Given the description of an element on the screen output the (x, y) to click on. 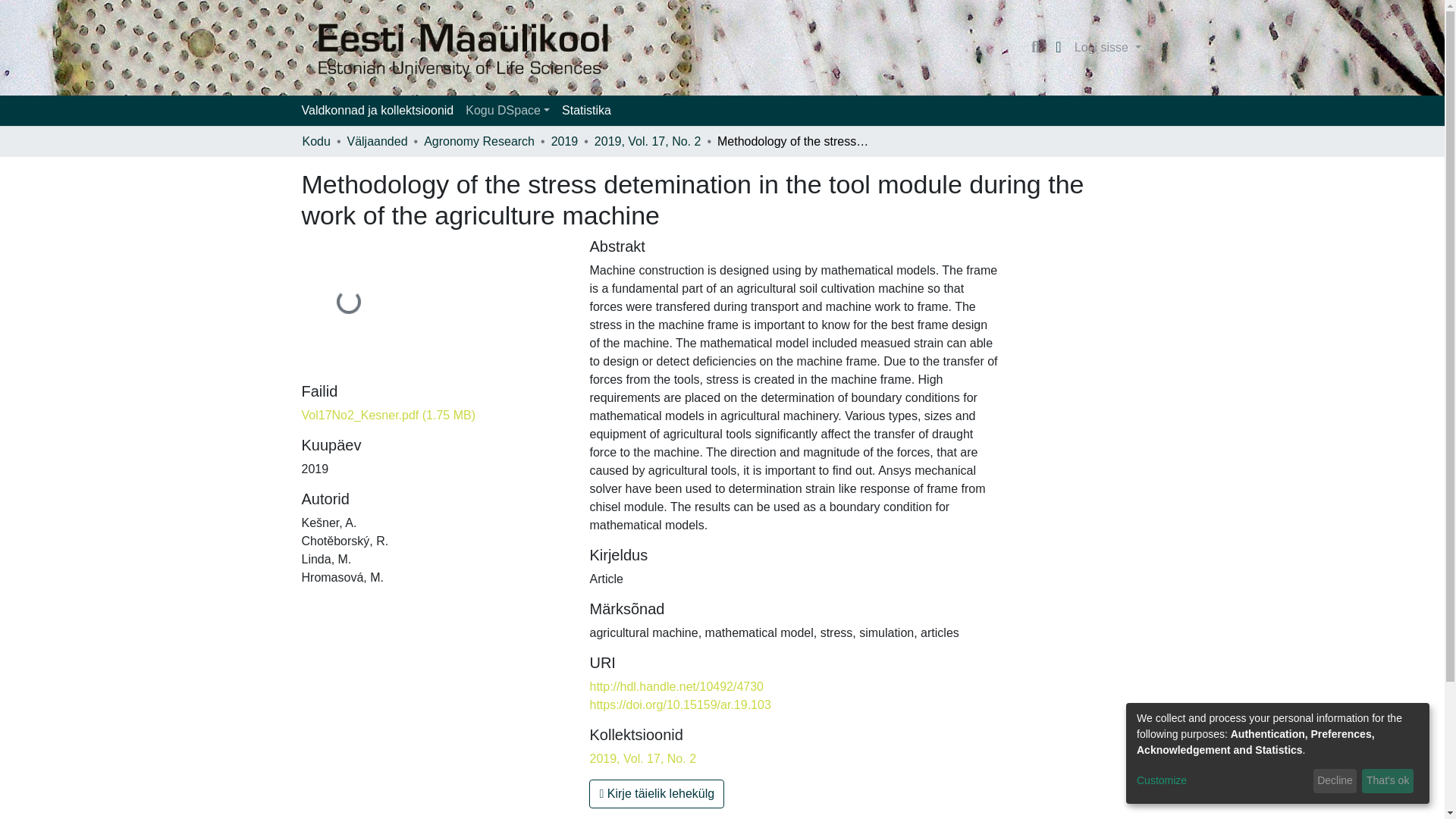
Customize (1222, 780)
Logi sisse (1106, 47)
That's ok (1387, 781)
2019, Vol. 17, No. 2 (642, 758)
2019, Vol. 17, No. 2 (647, 141)
Statistika (586, 110)
Keele vahetaja (1058, 47)
Kogu DSpace (508, 110)
Kodu (315, 141)
Valdkonnad ja kollektsioonid (377, 110)
Otsi (1035, 47)
Statistika (586, 110)
Agronomy Research (478, 141)
Decline (1334, 781)
Valdkonnad ja kollektsioonid (377, 110)
